Given the description of an element on the screen output the (x, y) to click on. 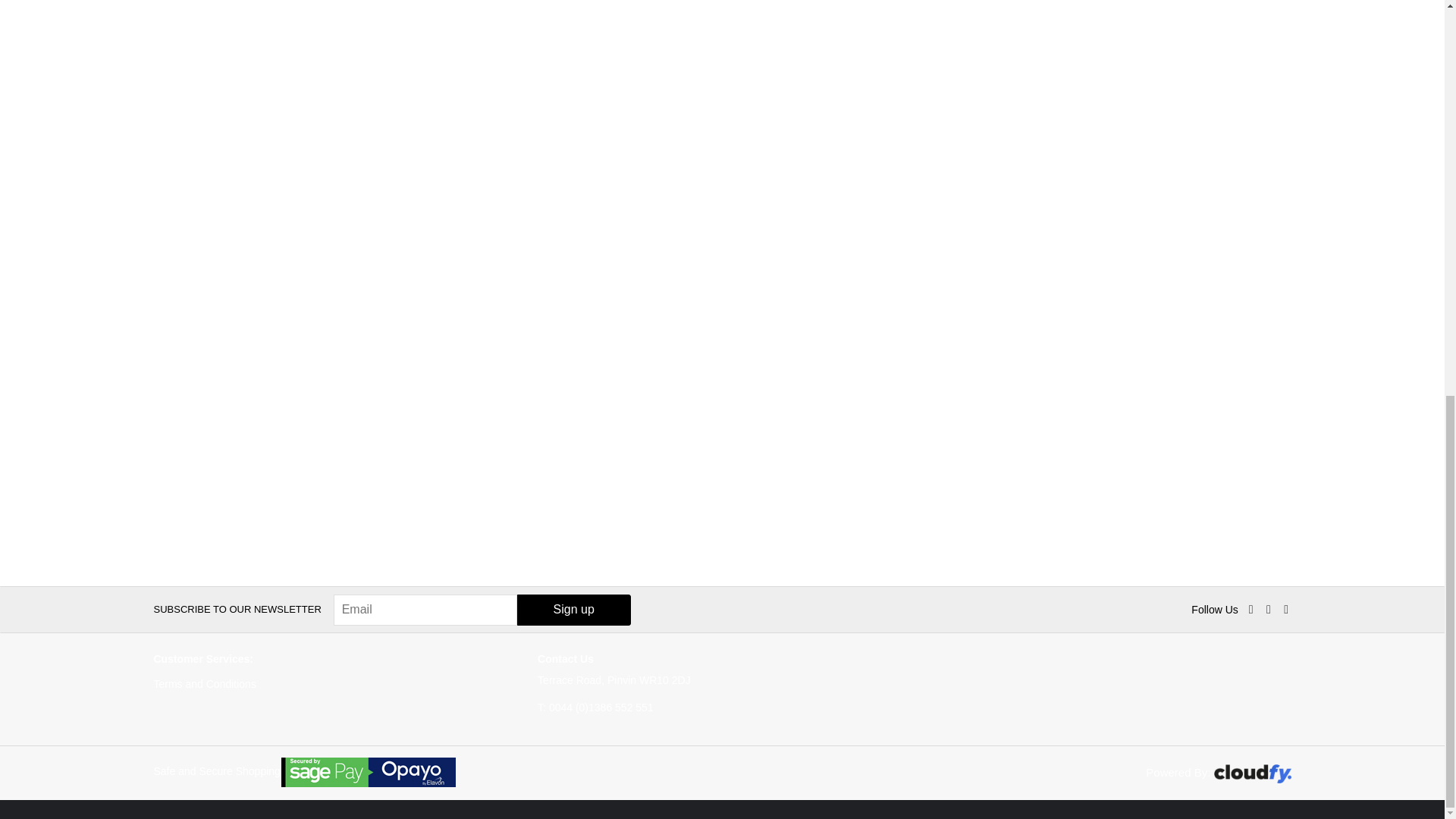
Cloudfy (1251, 773)
